Given the description of an element on the screen output the (x, y) to click on. 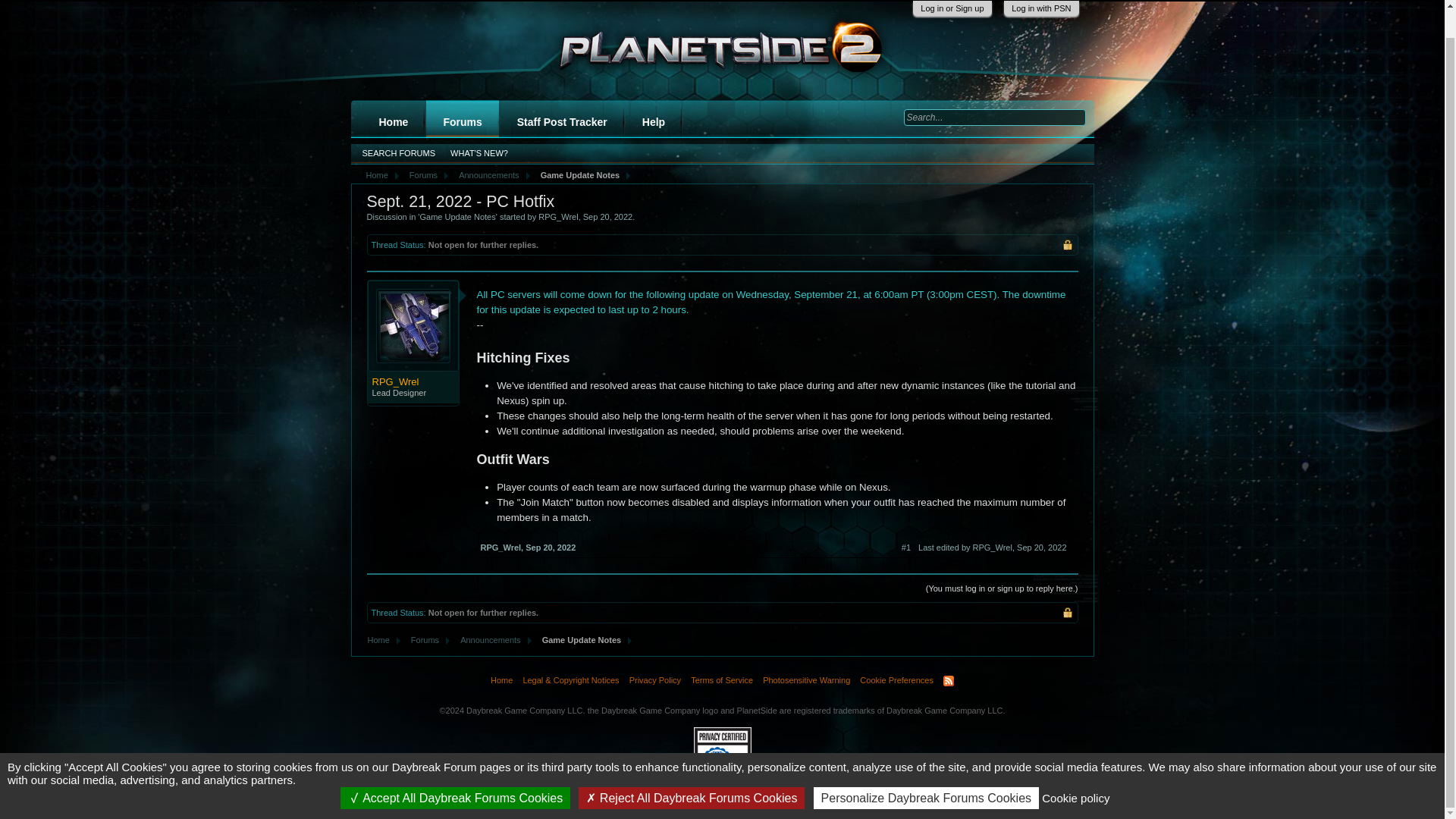
Permalink (550, 547)
Photosensitive Warning (805, 680)
Log in with PSN (1040, 8)
Privacy Policy (655, 680)
Log in or Sign up (952, 8)
Sep 20, 2022 at 4:06 PM (607, 216)
Game Update Notes (457, 216)
Sep 20, 2022 at 4:10 PM (1040, 547)
SEARCH FORUMS (399, 153)
Forums (420, 175)
Forums (461, 120)
Game Update Notes (577, 175)
Staff Post Tracker (562, 121)
Home (377, 639)
Forums (421, 639)
